Given the description of an element on the screen output the (x, y) to click on. 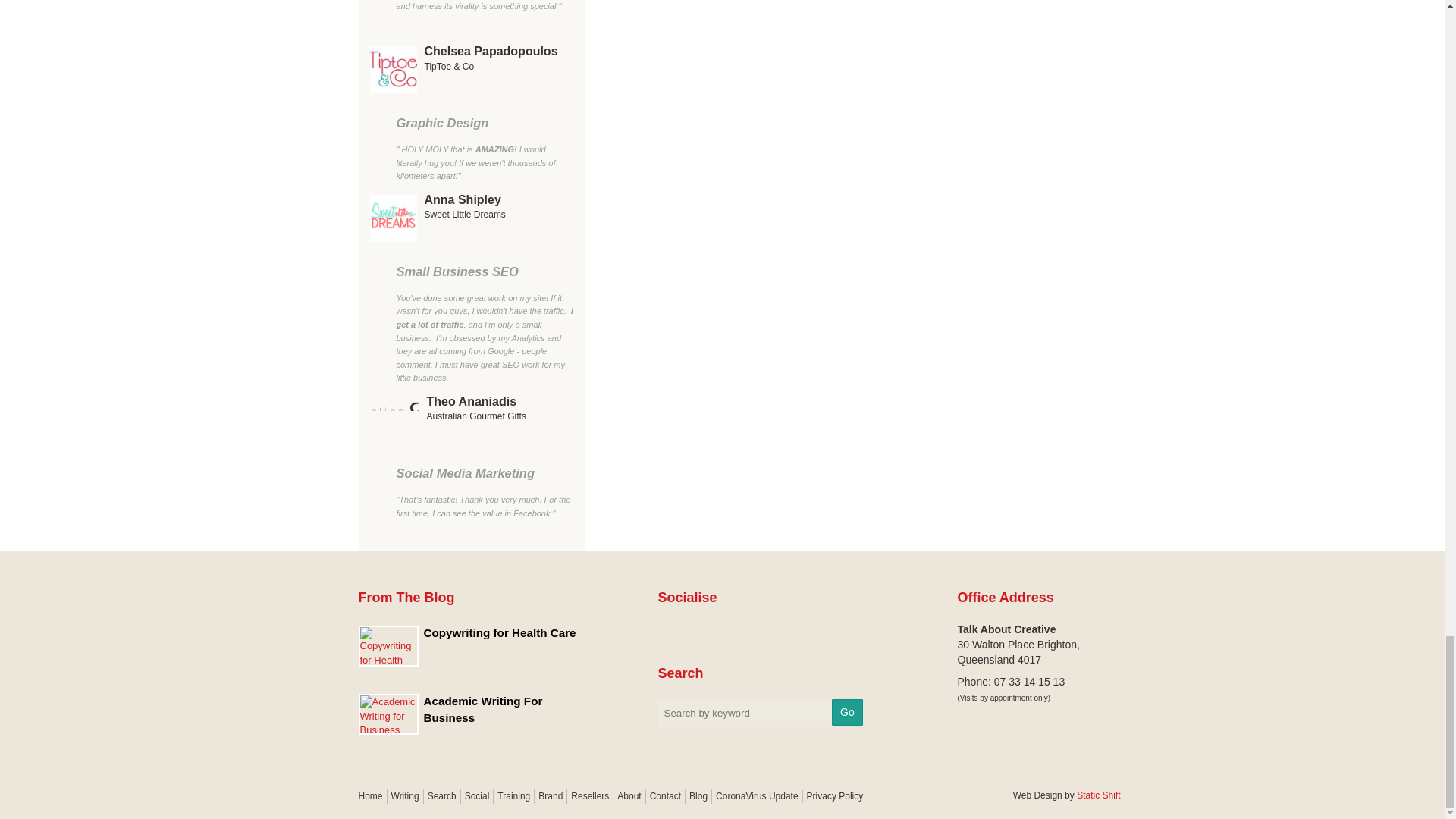
Go (847, 712)
